Given the description of an element on the screen output the (x, y) to click on. 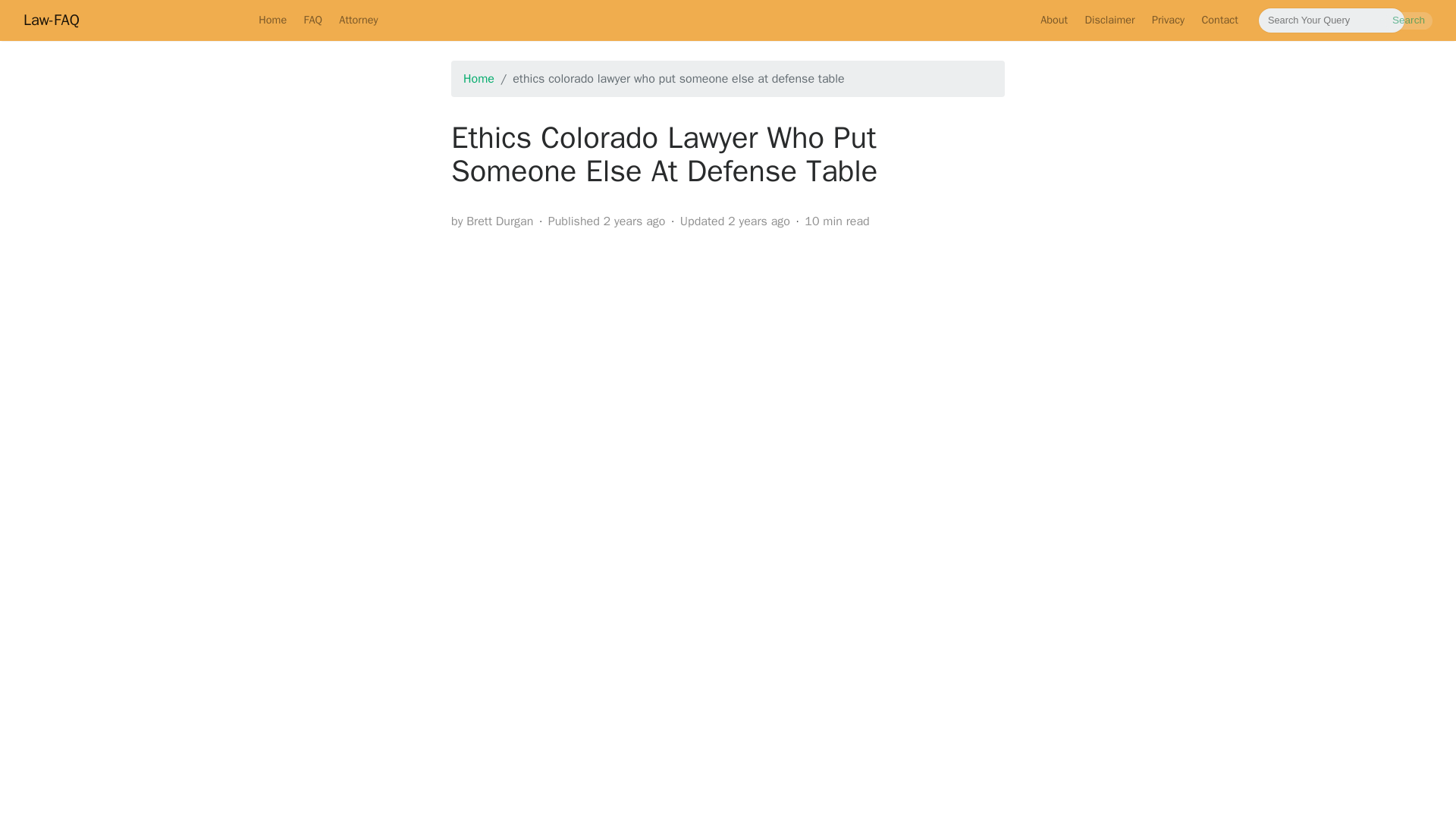
Contact (1219, 20)
FAQ (312, 20)
About (1053, 20)
Home (272, 20)
Home (479, 78)
Law-FAQ (51, 20)
Attorney (358, 20)
Search (1408, 20)
Privacy (1167, 20)
Disclaimer (1108, 20)
